Given the description of an element on the screen output the (x, y) to click on. 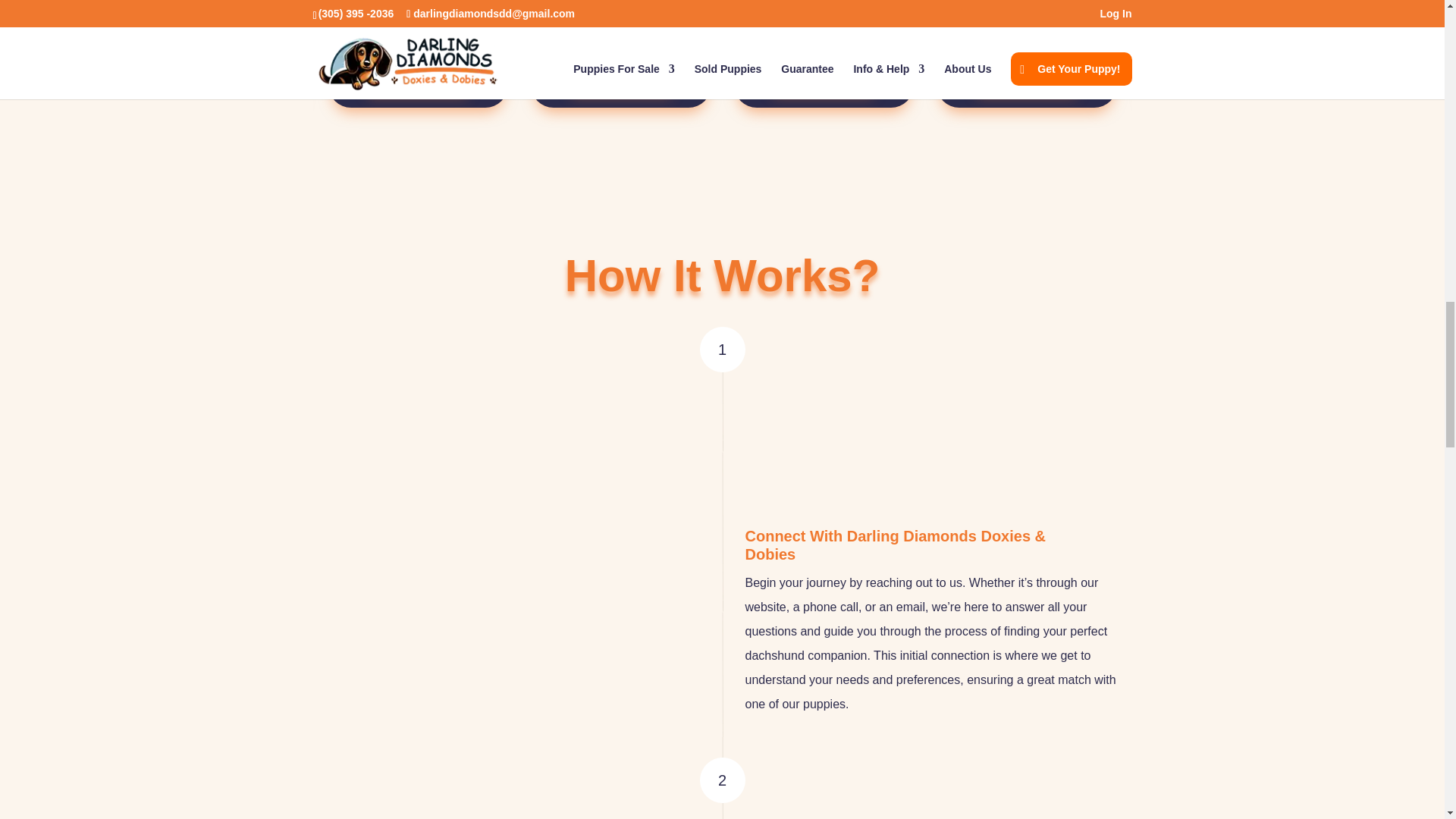
dog-breeder-icon-01 (805, 447)
OCTAVIA (823, 28)
OFELIA (620, 28)
DELILAH (417, 28)
GAVIN (1026, 28)
